Given the description of an element on the screen output the (x, y) to click on. 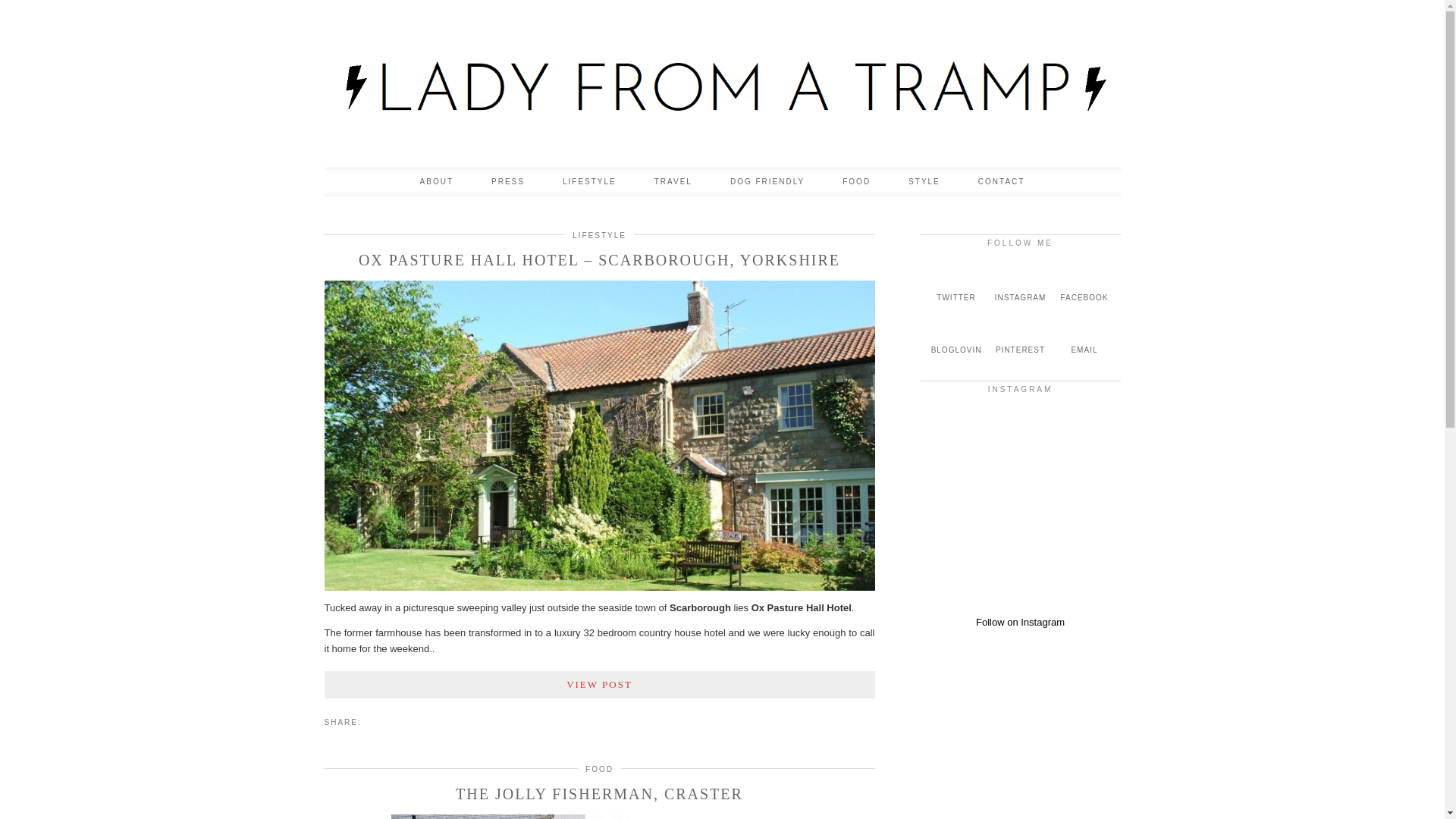
LIFESTYLE (588, 181)
LIFESTYLE (599, 234)
PRESS (507, 181)
TRAVEL (672, 181)
EMAIL (1084, 336)
FOOD (856, 181)
Lady From A Tramp (722, 87)
DOG FRIENDLY (767, 181)
ABOUT (436, 181)
FACEBOOK (1084, 284)
